Given the description of an element on the screen output the (x, y) to click on. 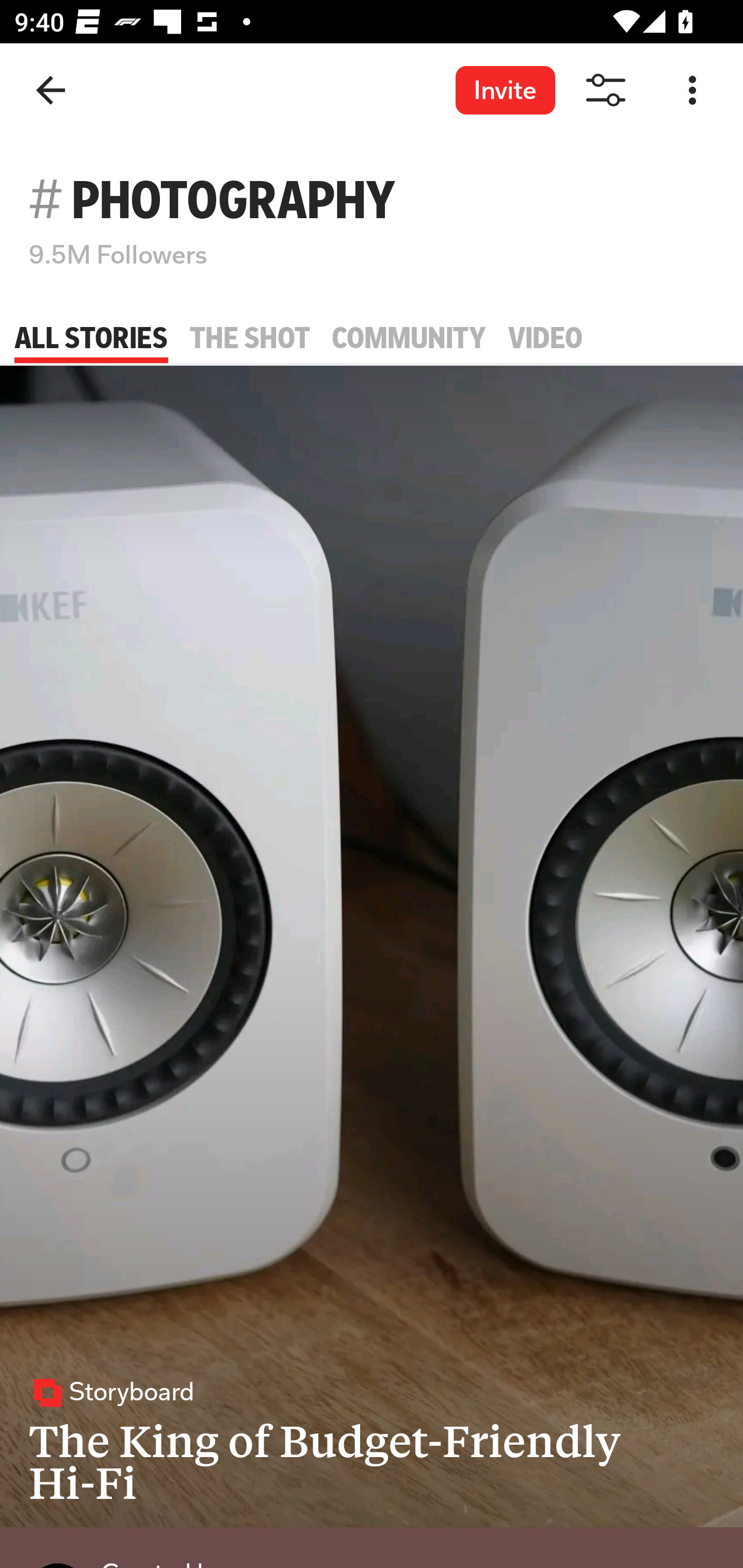
Back (50, 90)
Options (692, 90)
Invite (505, 89)
ALL STORIES (90, 337)
THE SHOT (249, 337)
COMMUNITY (409, 337)
VIDEO (545, 337)
